Given the description of an element on the screen output the (x, y) to click on. 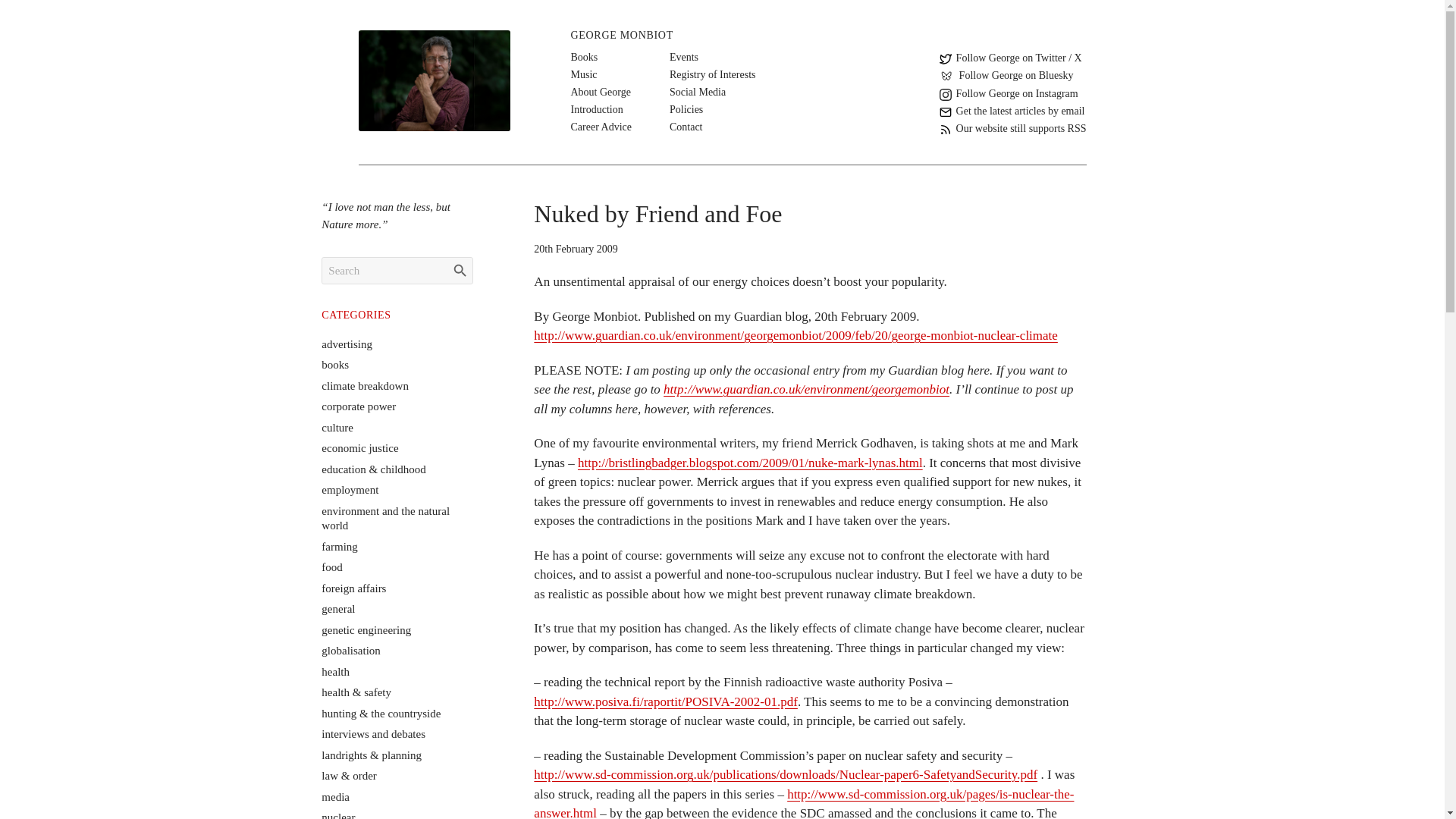
GEORGE MONBIOT (621, 35)
Social Media (697, 91)
Our website still supports RSS (1012, 128)
Introduction (596, 109)
About George (600, 91)
employment (349, 490)
Policies (686, 109)
Contact (686, 126)
Music (583, 74)
corporate power (358, 406)
